Given the description of an element on the screen output the (x, y) to click on. 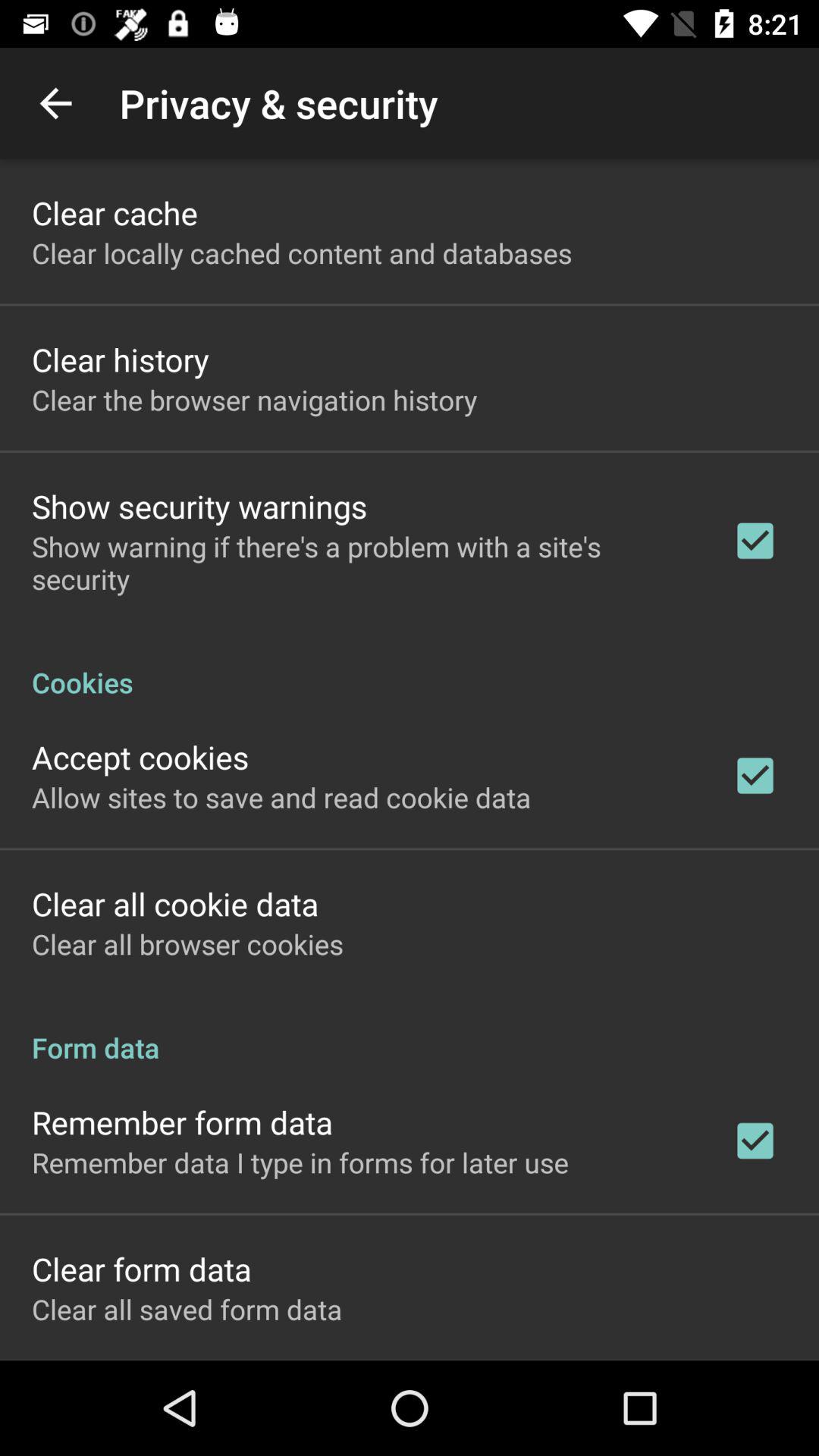
flip until the show warning if item (361, 562)
